Given the description of an element on the screen output the (x, y) to click on. 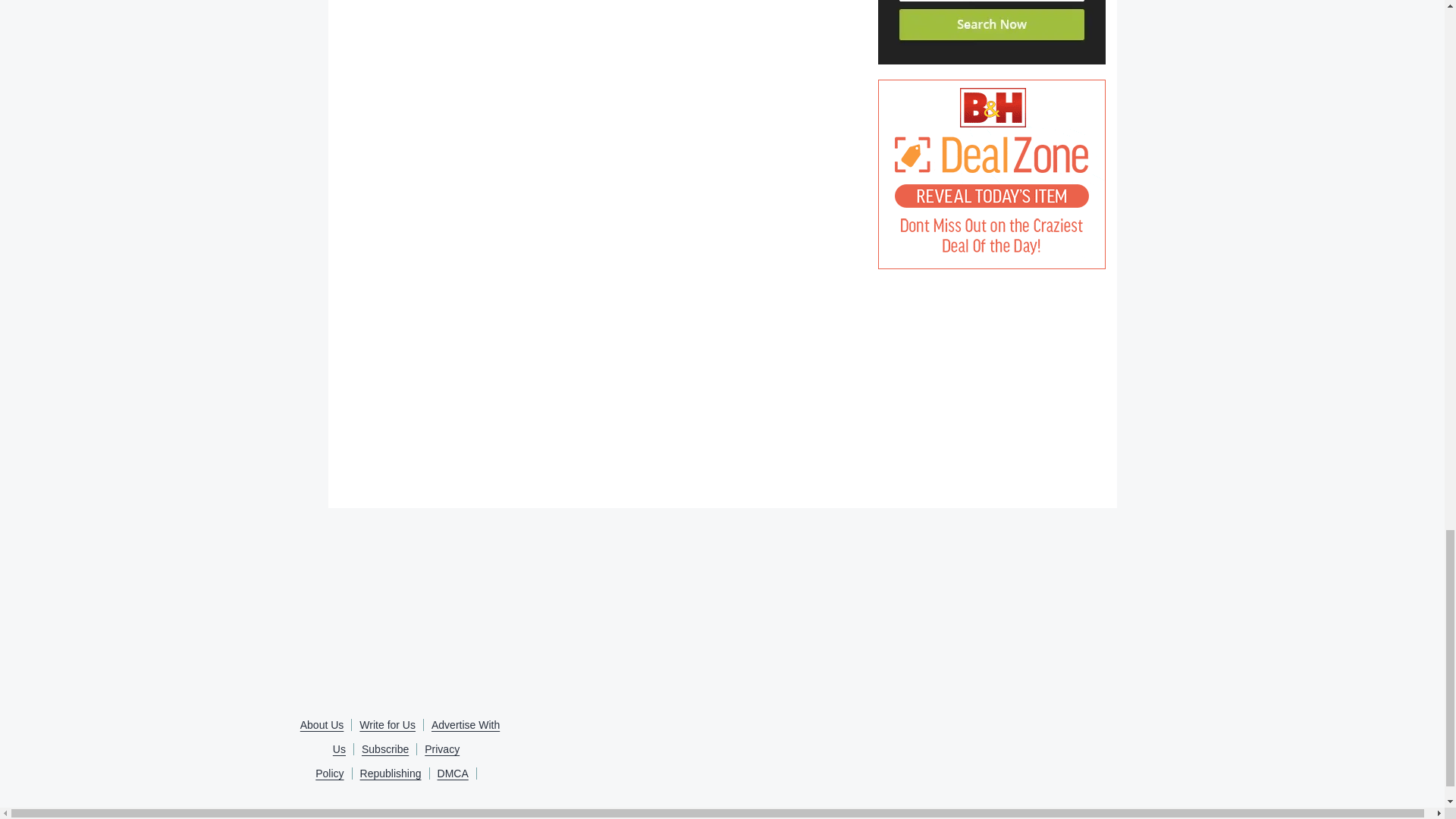
Write for Us (387, 725)
Advertise With Us (416, 737)
About Us (322, 725)
